Given the description of an element on the screen output the (x, y) to click on. 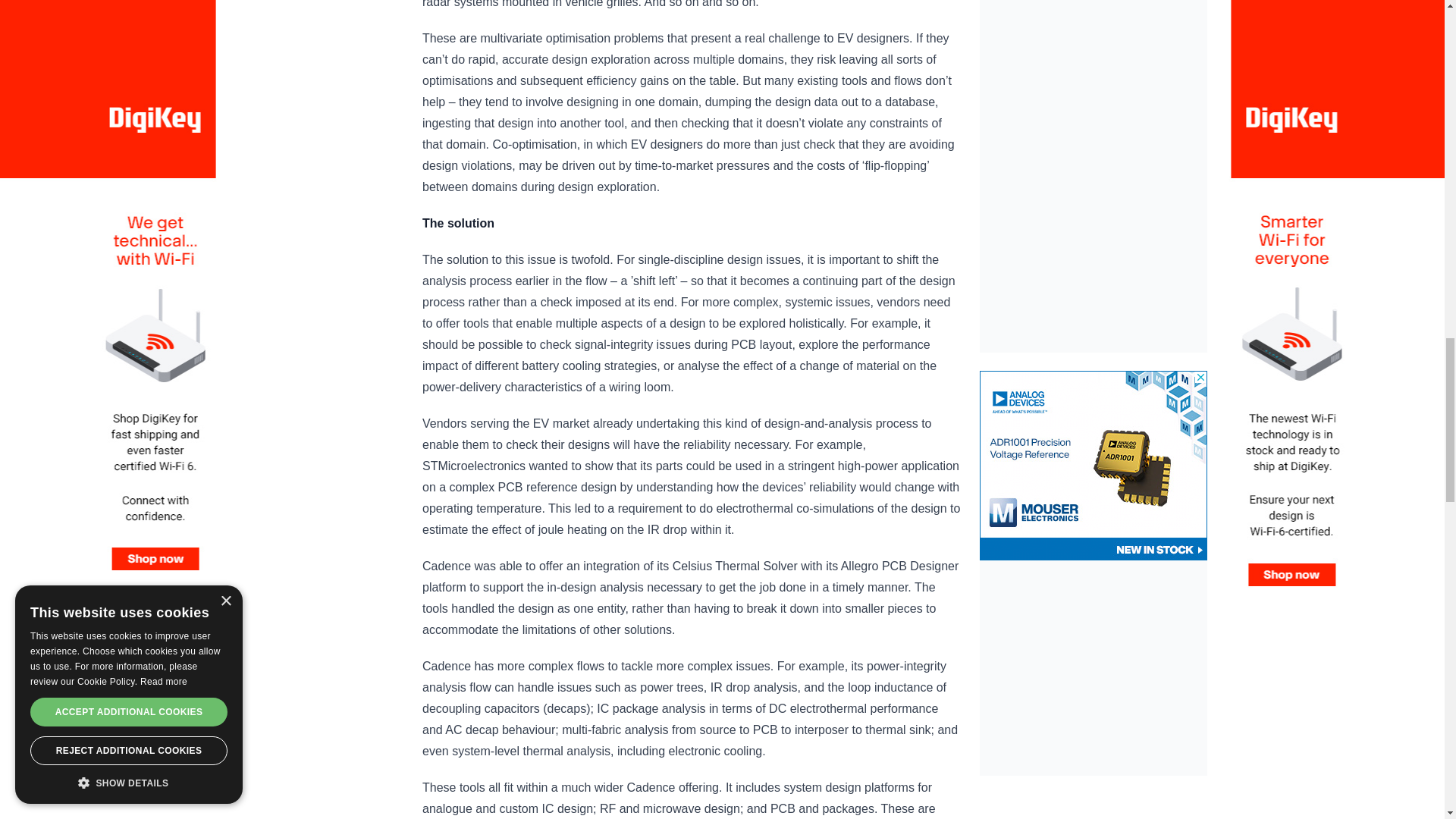
3rd party ad content (1093, 69)
3rd party ad content (1093, 465)
